Given the description of an element on the screen output the (x, y) to click on. 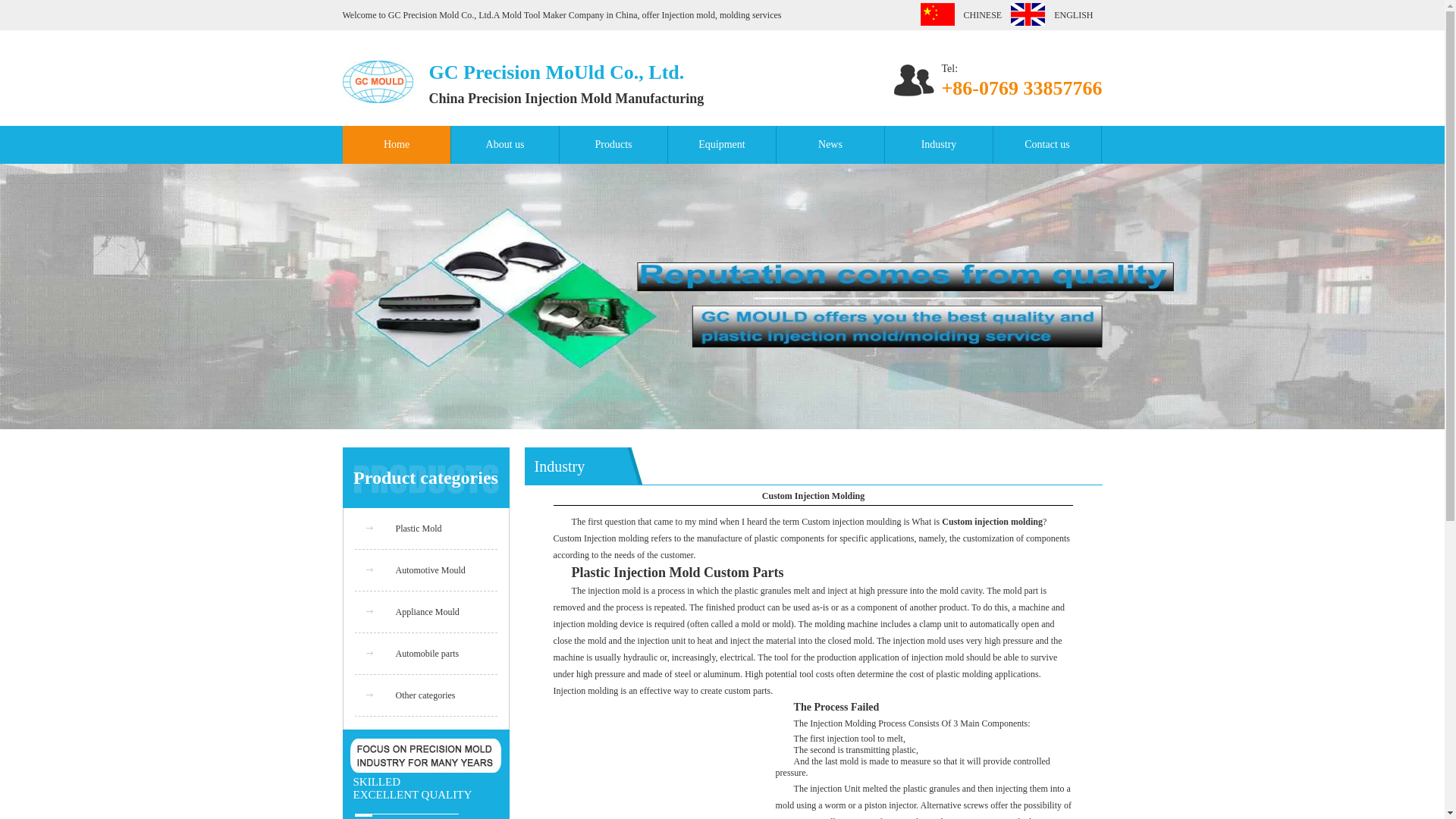
CHINESE (977, 14)
News (830, 144)
Custom injection molding (992, 521)
ENGLISH (1069, 14)
Plastic Mold (419, 528)
Products (613, 144)
Industry (937, 144)
Equipment (721, 144)
Mold Tool Maker (535, 14)
Automotive Mould (430, 570)
Home (396, 144)
Appliance Mould (428, 611)
Other categories (425, 695)
Precision Injection Mold (540, 98)
Automobile parts (428, 653)
